Given the description of an element on the screen output the (x, y) to click on. 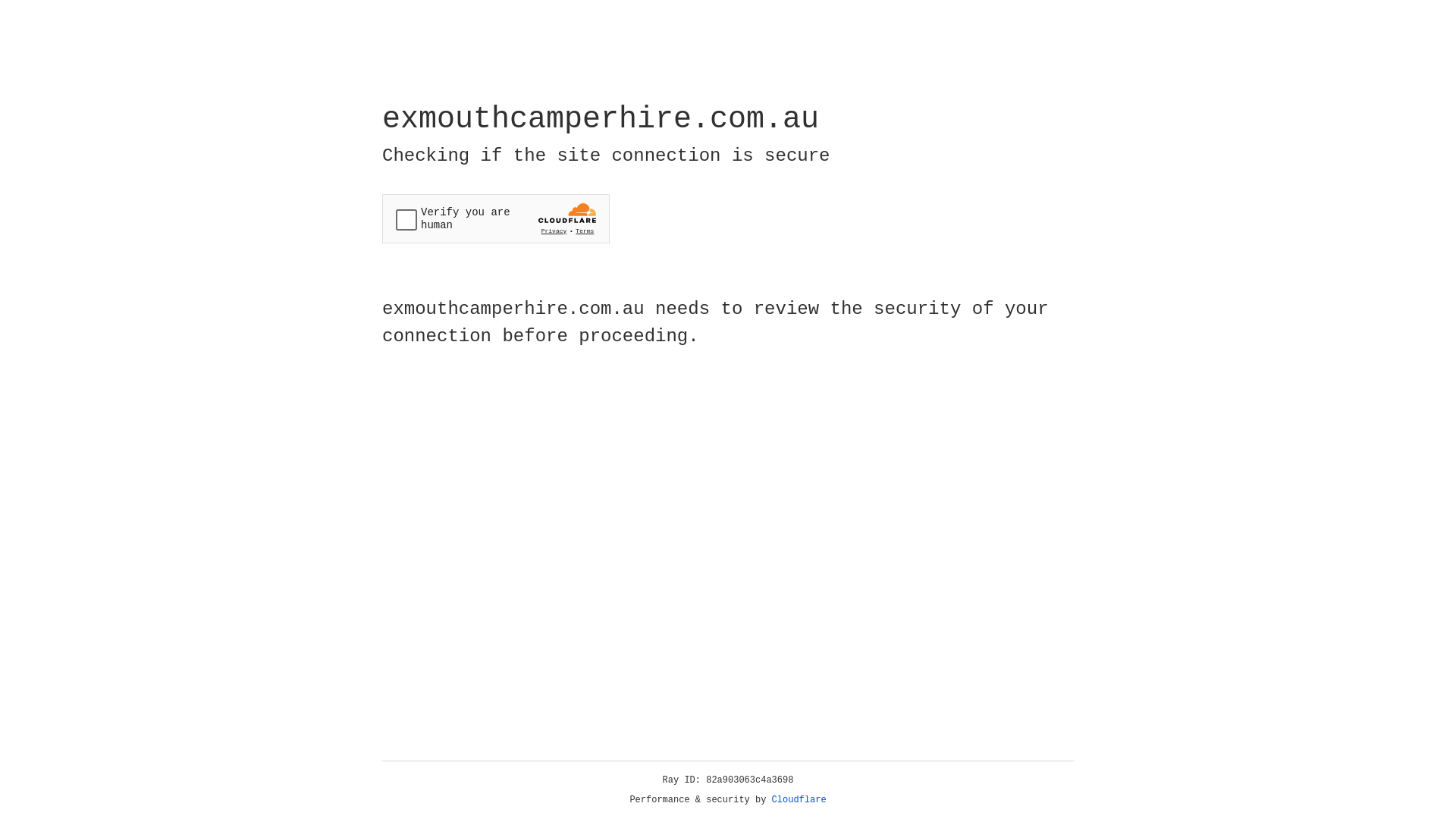
Cloudflare Element type: text (798, 799)
Widget containing a Cloudflare security challenge Element type: hover (495, 218)
